Given the description of an element on the screen output the (x, y) to click on. 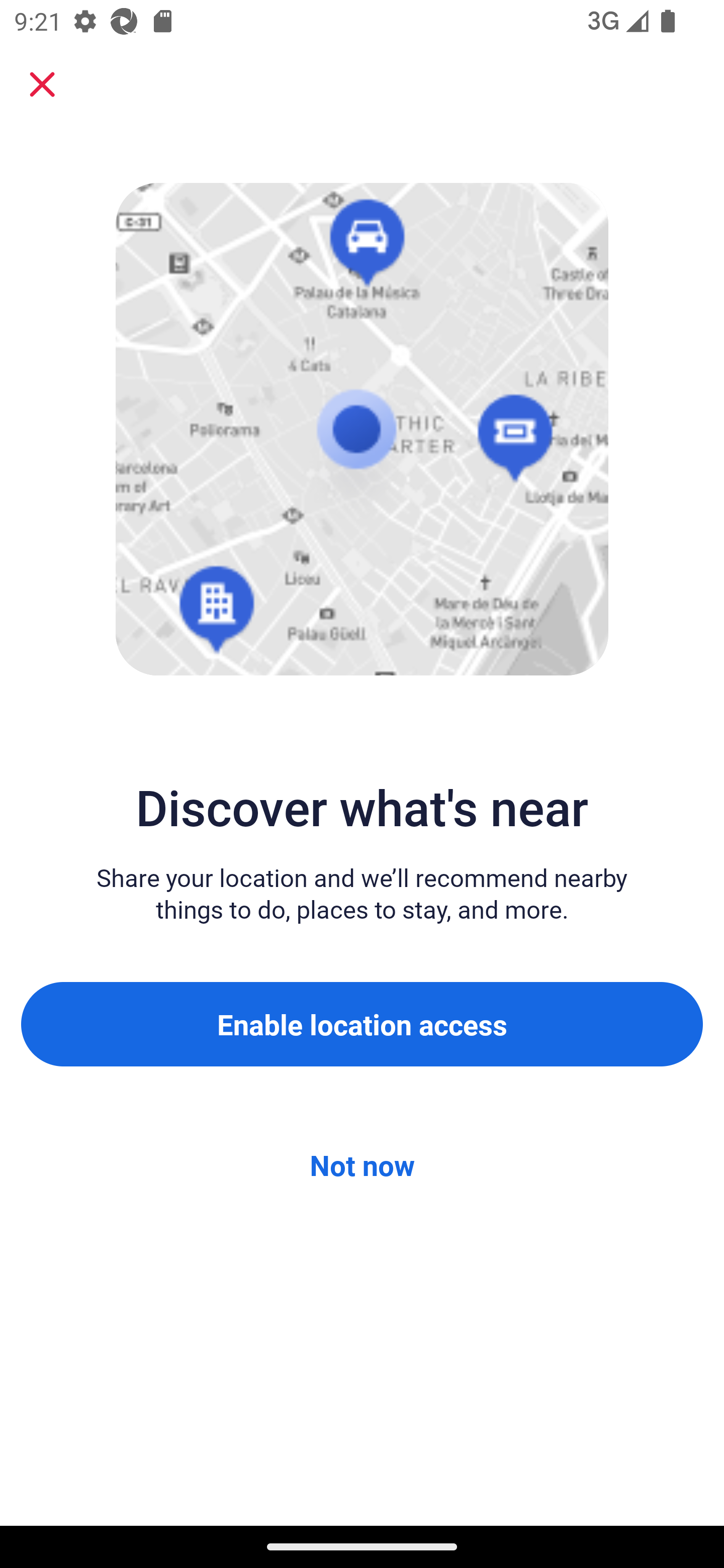
Close sheet (42, 84)
Enable location access (361, 1023)
Not now (362, 1164)
